Given the description of an element on the screen output the (x, y) to click on. 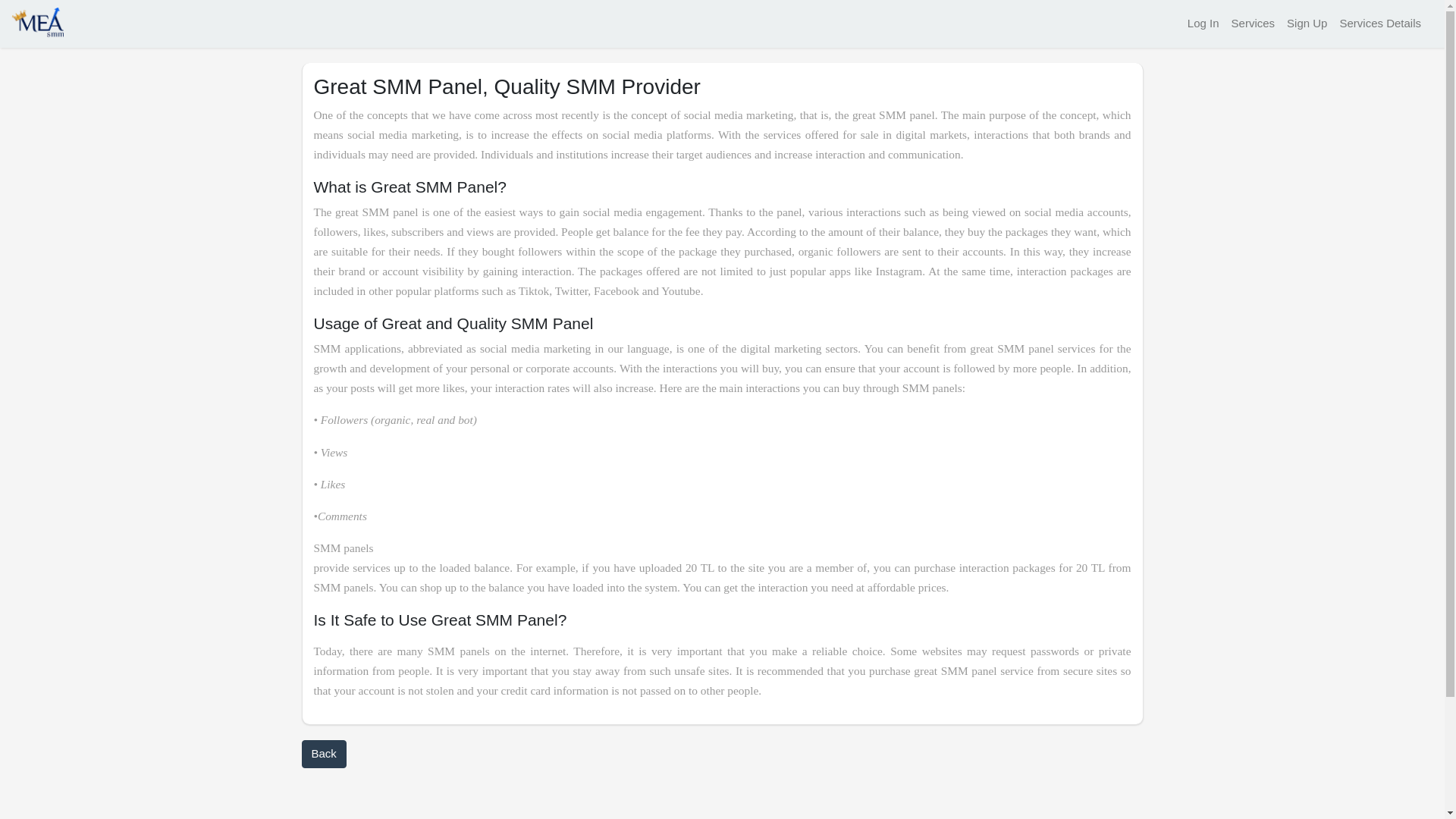
Services (1253, 23)
Back (323, 754)
Sign Up (1307, 23)
Services Details (1379, 23)
Log In (1202, 23)
measmm.com (37, 23)
